Given the description of an element on the screen output the (x, y) to click on. 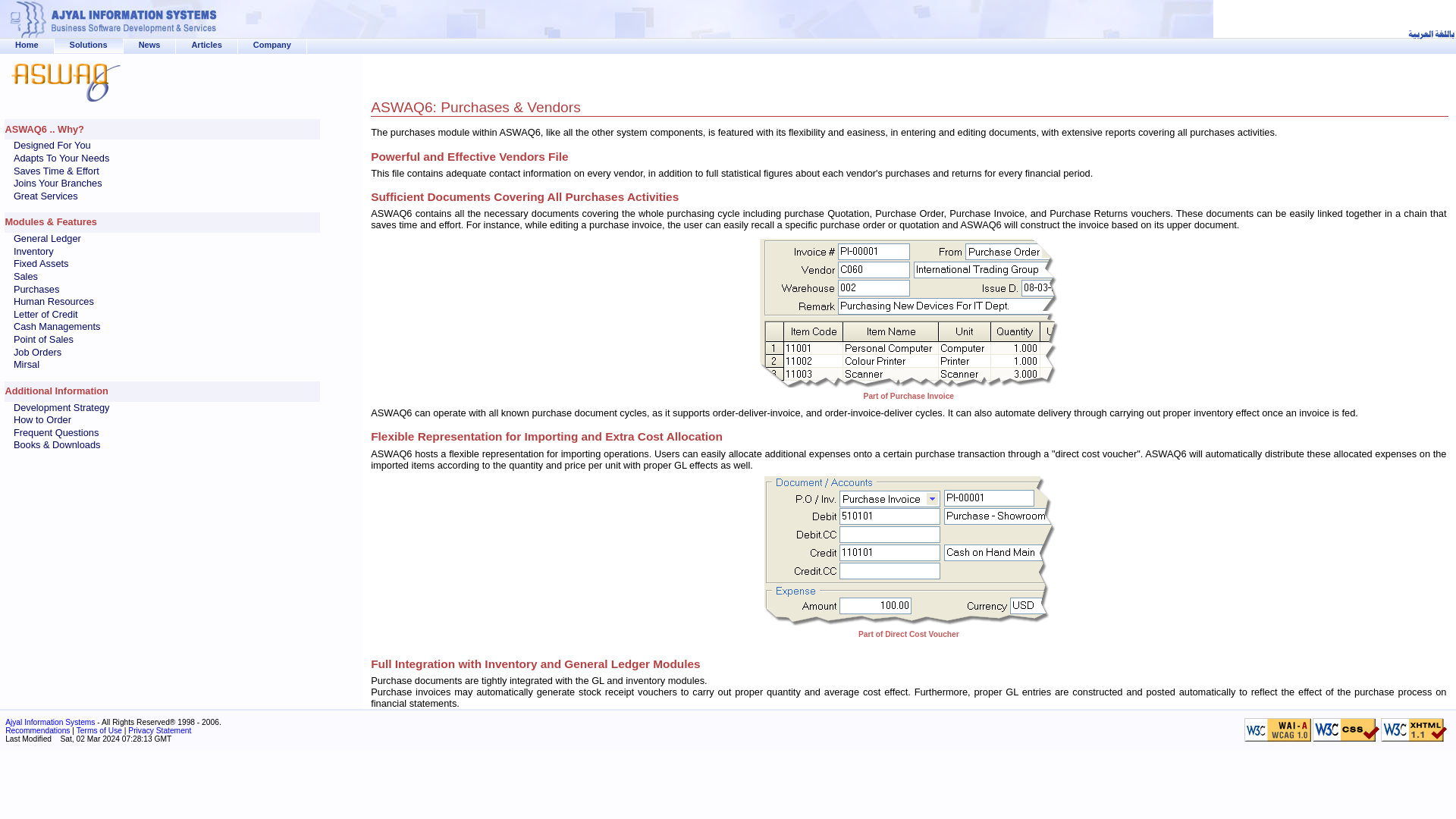
Point of Sales (43, 340)
Sales (25, 278)
Fixed Assets (40, 264)
General Ledger (47, 239)
Articles (205, 44)
Company (272, 44)
Job Orders (37, 353)
Privacy Statement (159, 730)
Great Services (45, 197)
Fixed Assets (40, 264)
